Given the description of an element on the screen output the (x, y) to click on. 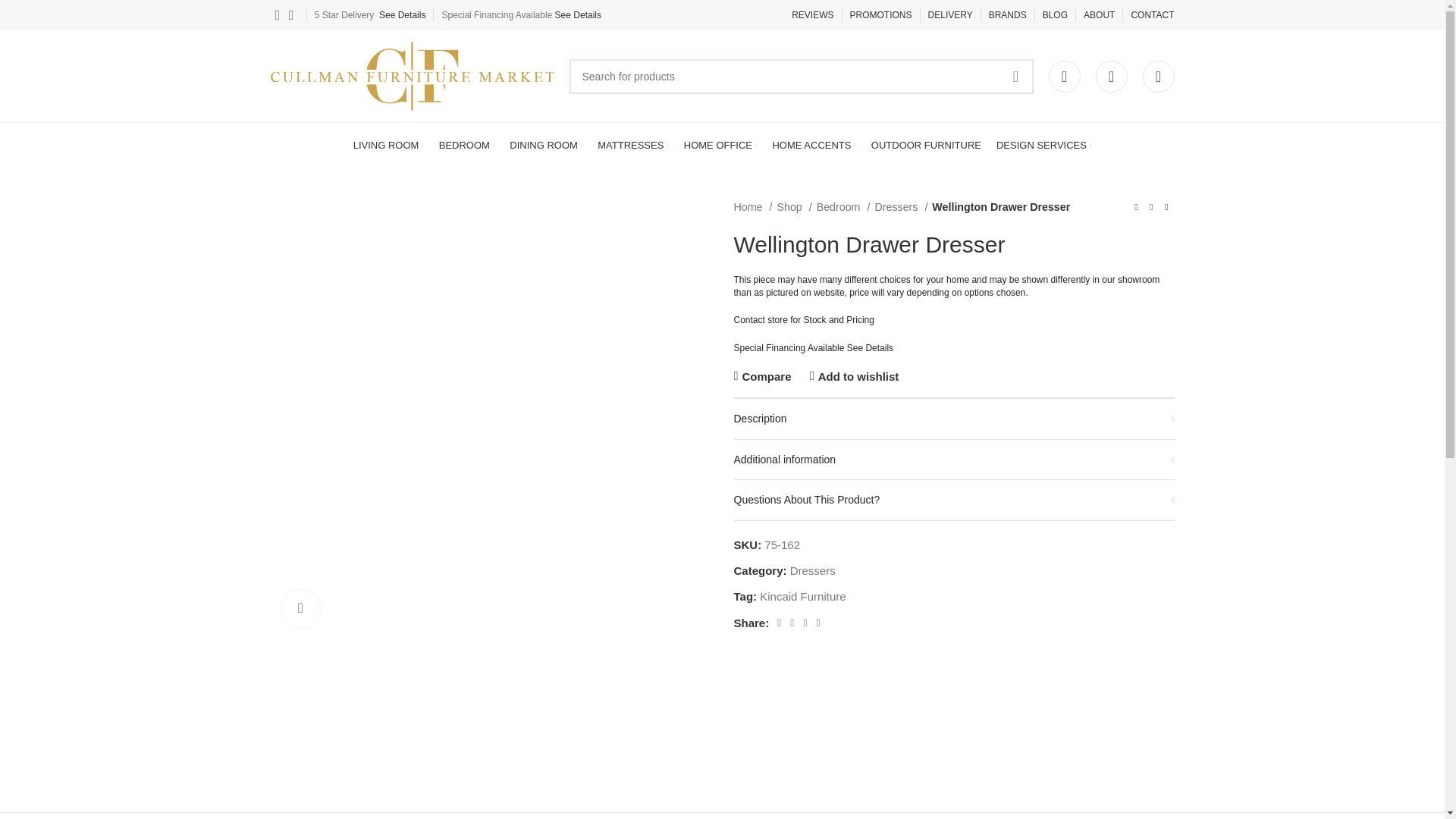
Search for products (800, 76)
Log in (954, 339)
PROMOTIONS (881, 15)
BEDROOM (467, 145)
REVIEWS (812, 15)
DELIVERY (950, 15)
My account (1064, 75)
Compare products (1157, 75)
My Wishlist (1110, 75)
